Given the description of an element on the screen output the (x, y) to click on. 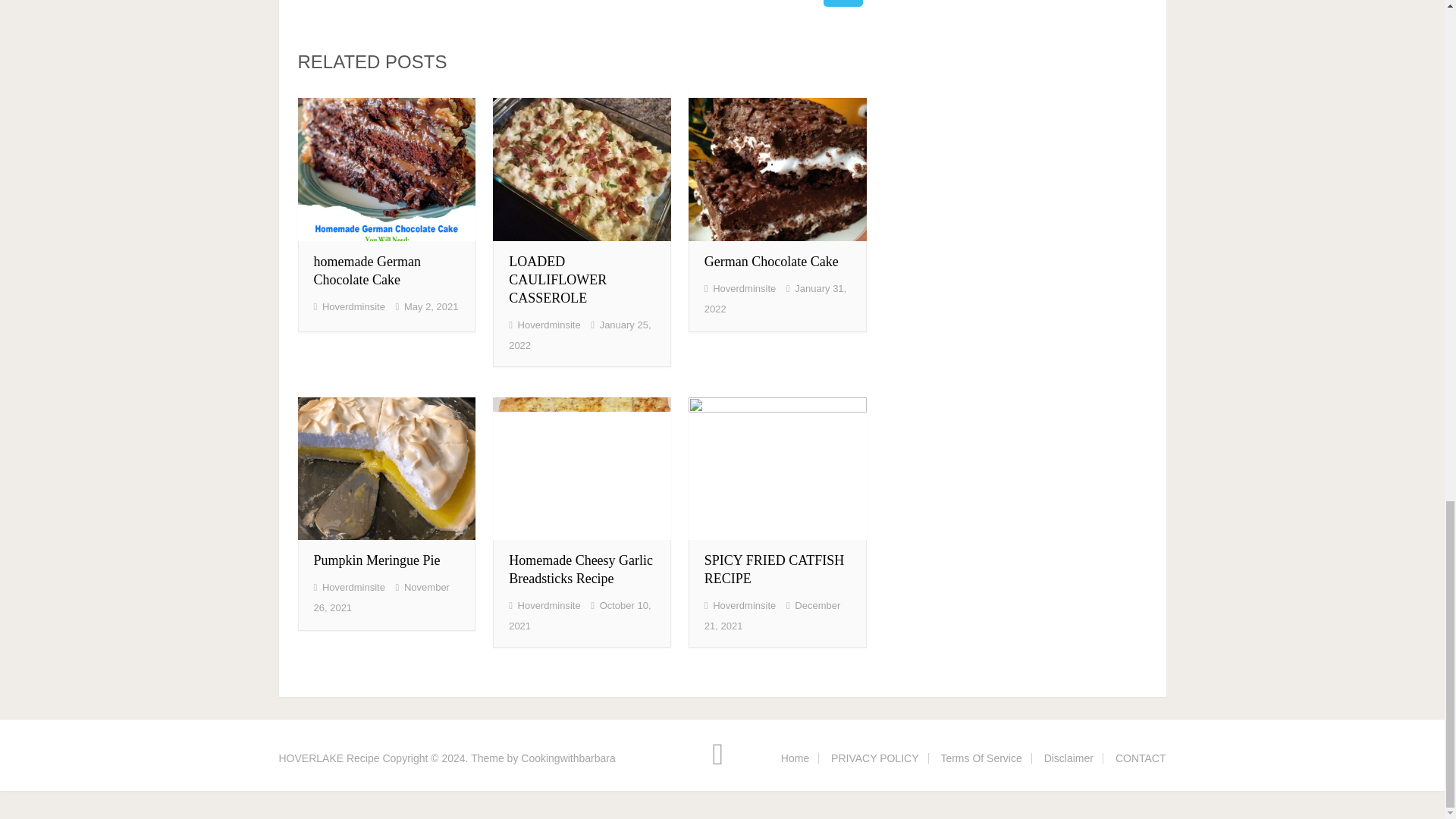
Hoverdminsite (744, 604)
Pumpkin Meringue Pie (377, 560)
German Chocolate Cake (771, 261)
homemade German Chocolate Cake (367, 270)
homemade German Chocolate Cake (386, 165)
SPICY FRIED CATFISH RECIPE (774, 569)
LOADED CAULIFLOWER CASSEROLE (557, 279)
Homemade Cheesy Garlic Breadsticks Recipe (580, 569)
Hoverdminsite (353, 306)
Posts by hoverdminsite (353, 306)
